Given the description of an element on the screen output the (x, y) to click on. 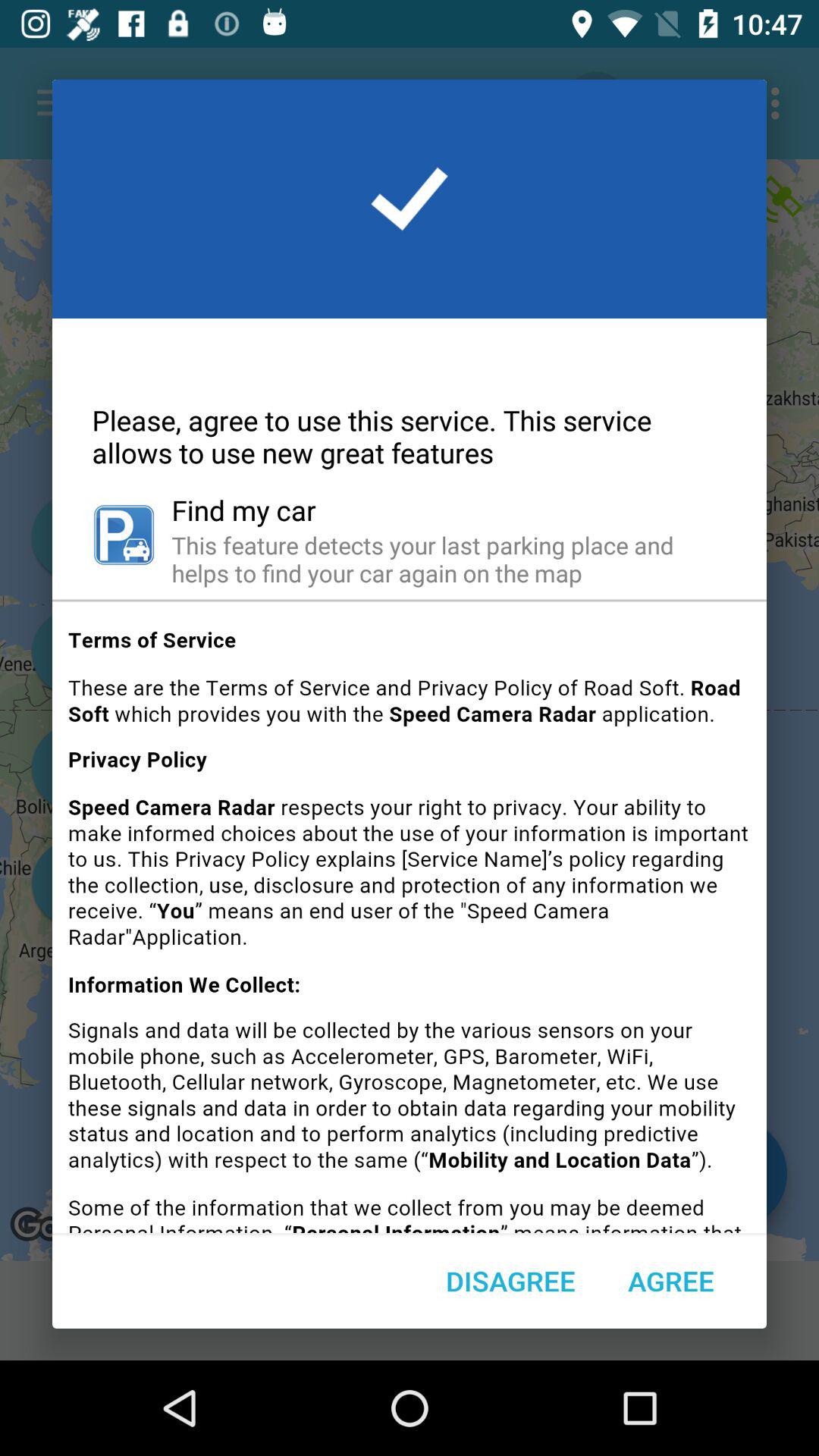
read terms of service (409, 922)
